Given the description of an element on the screen output the (x, y) to click on. 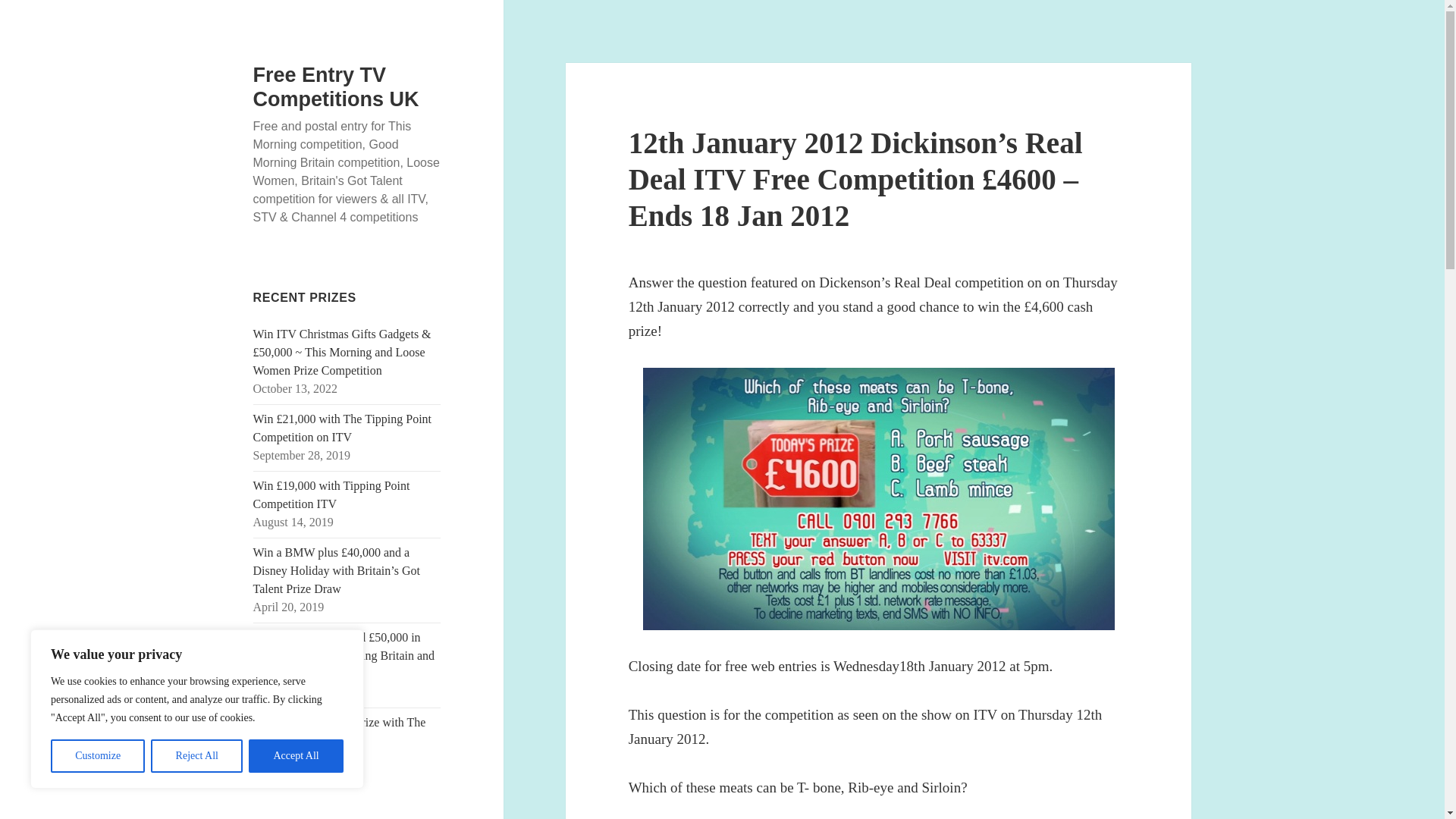
Accept All (295, 756)
Customize (97, 756)
Dickinsons Real Deal Free Competition January 12th 2012 (879, 498)
Free Entry TV Competitions UK (336, 86)
Reject All (197, 756)
